Given the description of an element on the screen output the (x, y) to click on. 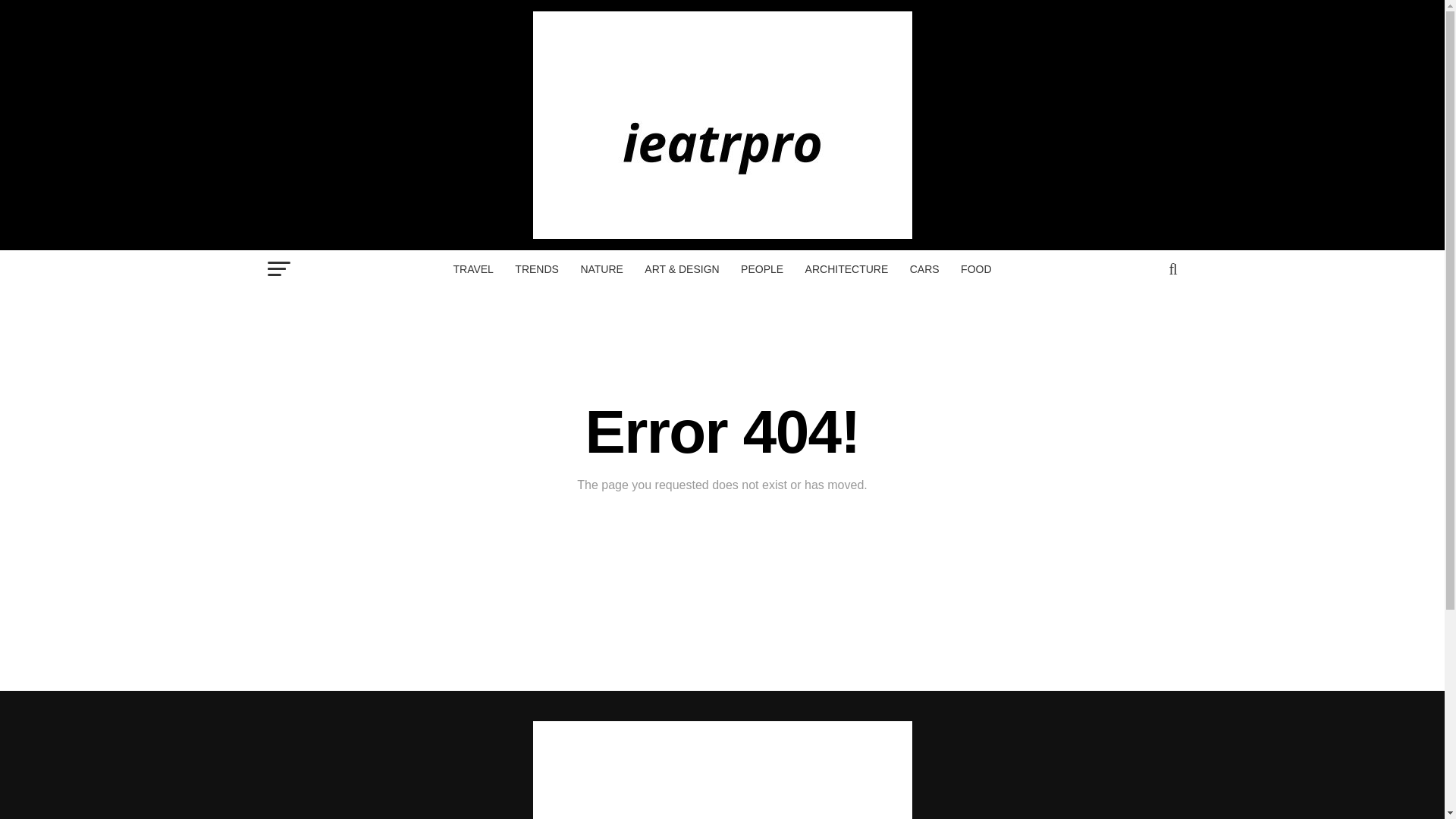
TRENDS (536, 269)
CARS (925, 269)
ARCHITECTURE (847, 269)
TRAVEL (473, 269)
PEOPLE (762, 269)
FOOD (976, 269)
NATURE (600, 269)
